Given the description of an element on the screen output the (x, y) to click on. 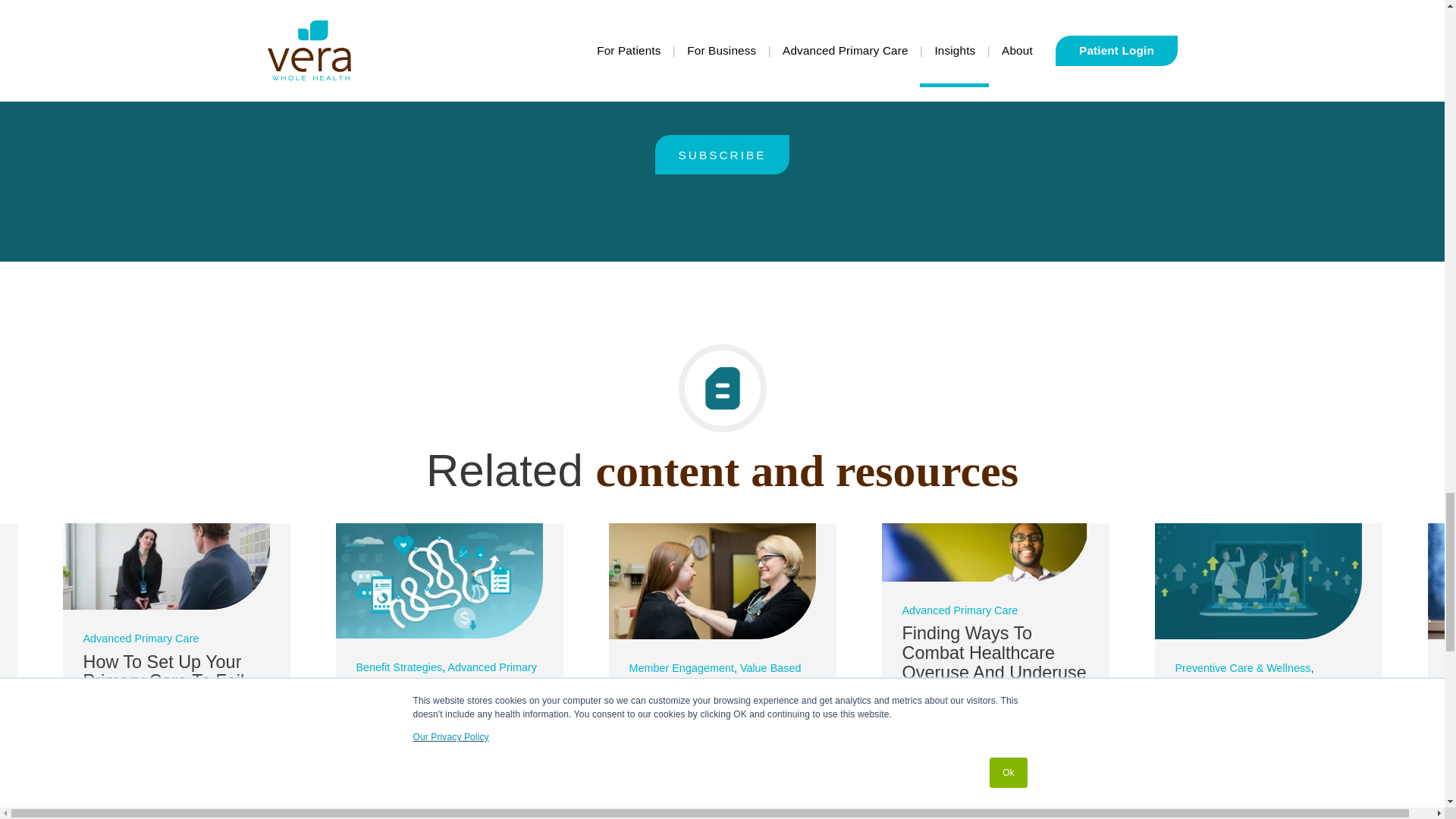
true (570, 76)
Subscribe (722, 154)
